Given the description of an element on the screen output the (x, y) to click on. 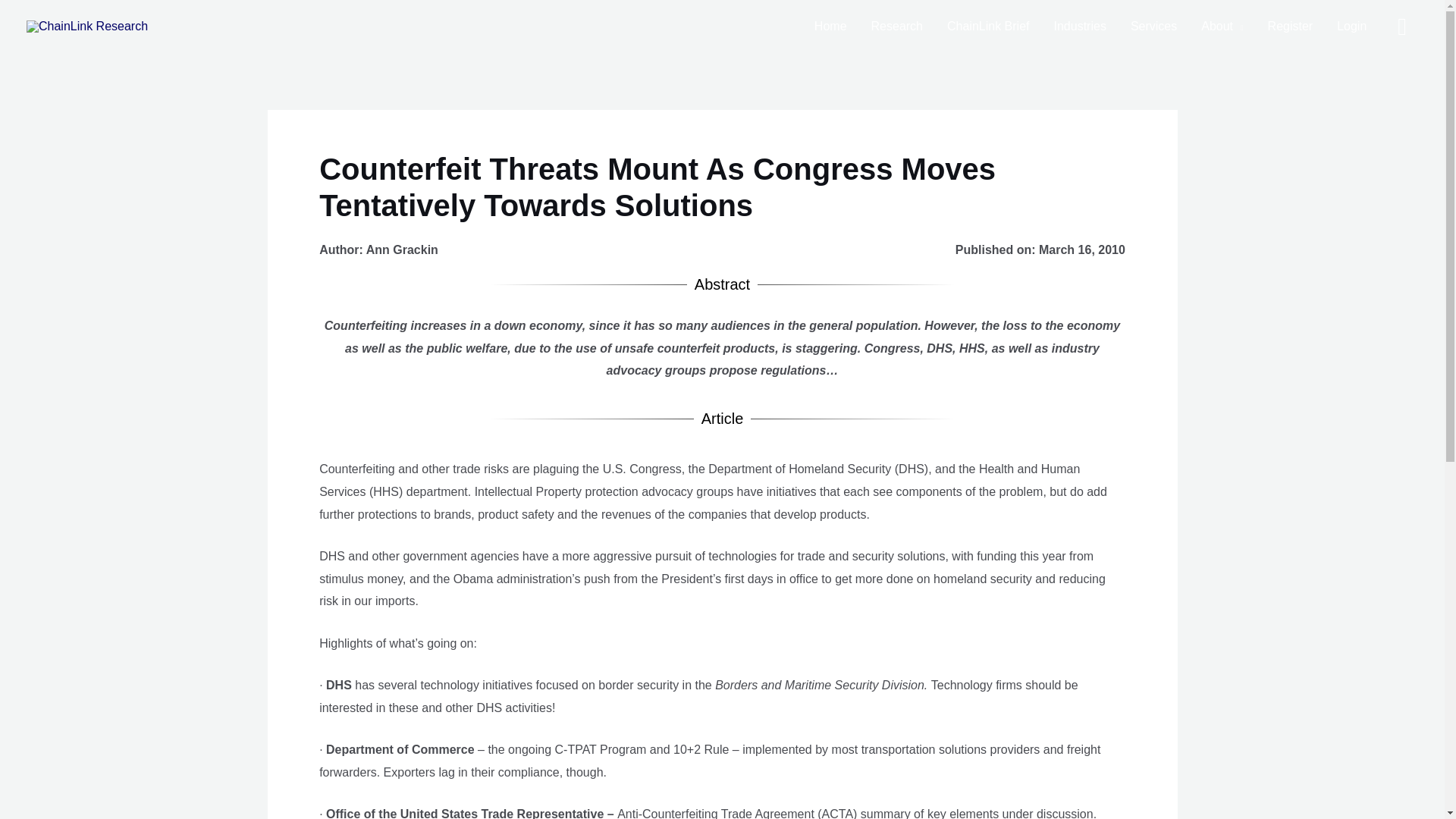
Login (1351, 26)
Industries (1080, 26)
ChainLink Brief (988, 26)
About (1222, 26)
Register (1289, 26)
Research (896, 26)
Home (830, 26)
Services (1153, 26)
